Given the description of an element on the screen output the (x, y) to click on. 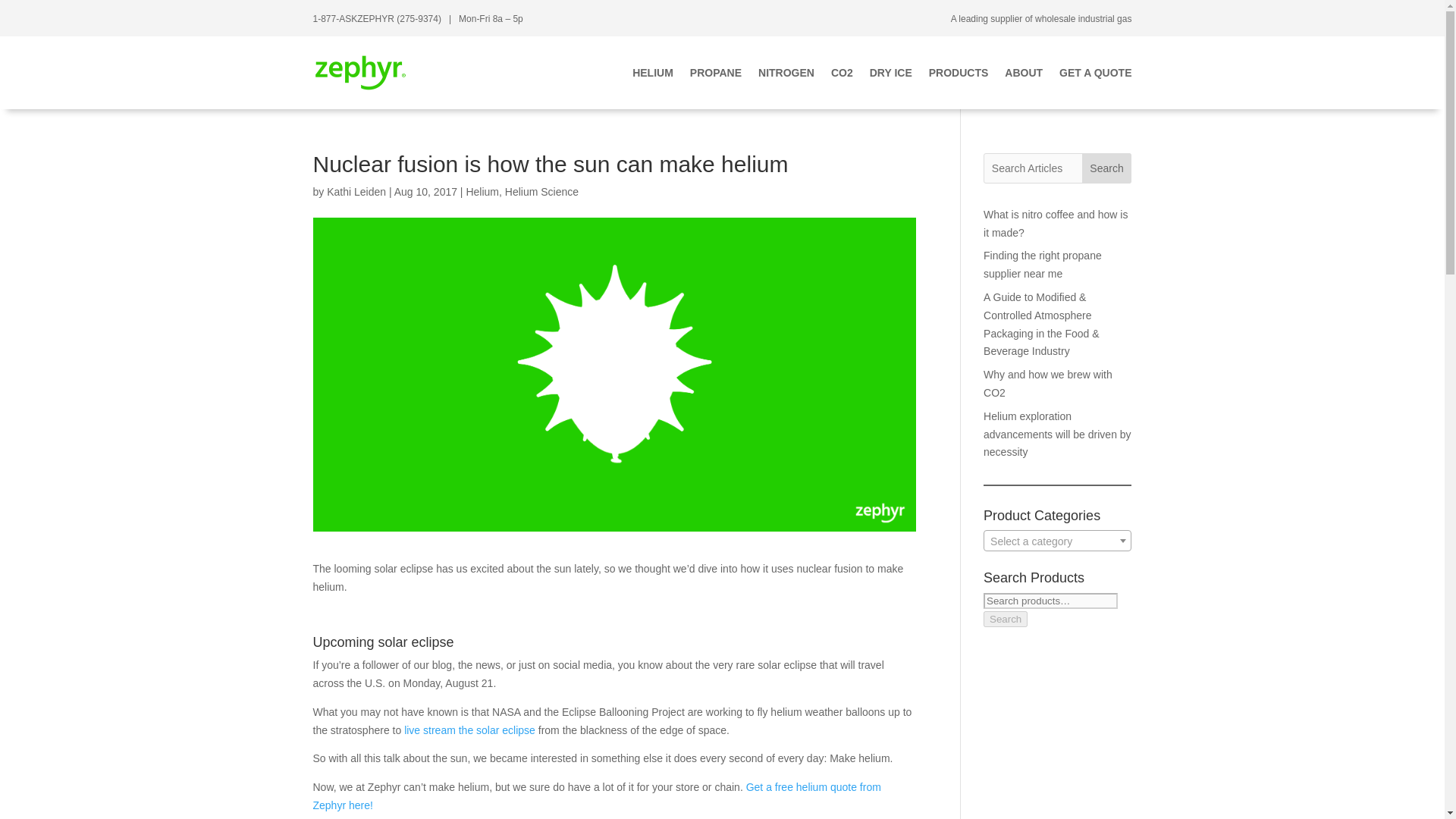
PRODUCTS (958, 72)
Helium (482, 191)
Why and how we brew with CO2 (1048, 383)
Finding the right propane supplier near me (1043, 264)
Helium Science (541, 191)
Kathi Leiden (355, 191)
Get a free helium quote from Zephyr here! (596, 796)
Products (958, 72)
Search (1106, 168)
Nitrogen (785, 72)
live stream the solar eclipse (469, 729)
Helium exploration advancements will be driven by necessity (1057, 434)
NITROGEN (785, 72)
What is nitro coffee and how is it made? (1055, 223)
Posts by Kathi Leiden (355, 191)
